Given the description of an element on the screen output the (x, y) to click on. 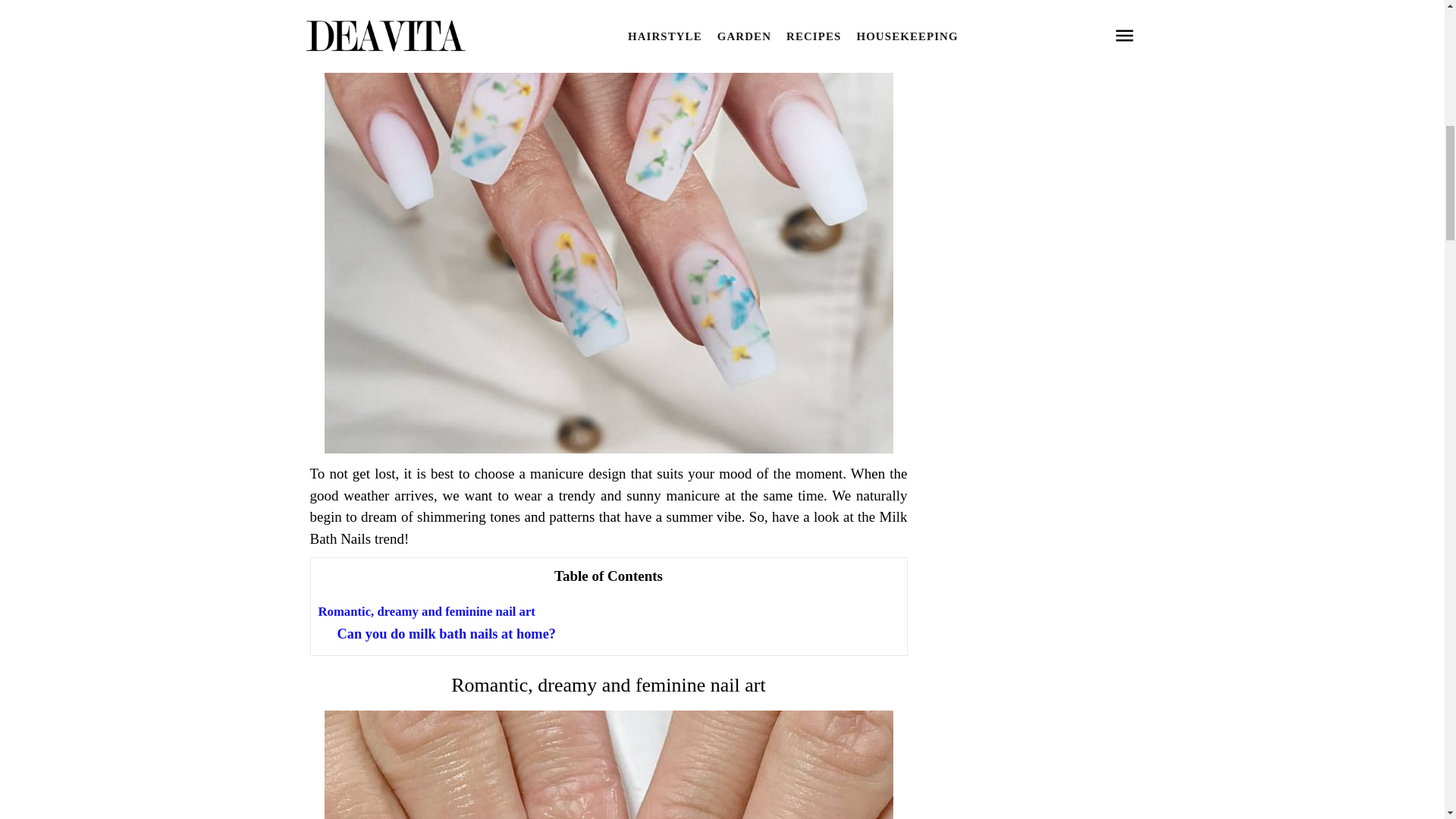
beautiful romantic feminine manicure ideas milk bath nails (608, 764)
Beautiful feminine manicure ideas milk bath nails (608, 764)
